Given the description of an element on the screen output the (x, y) to click on. 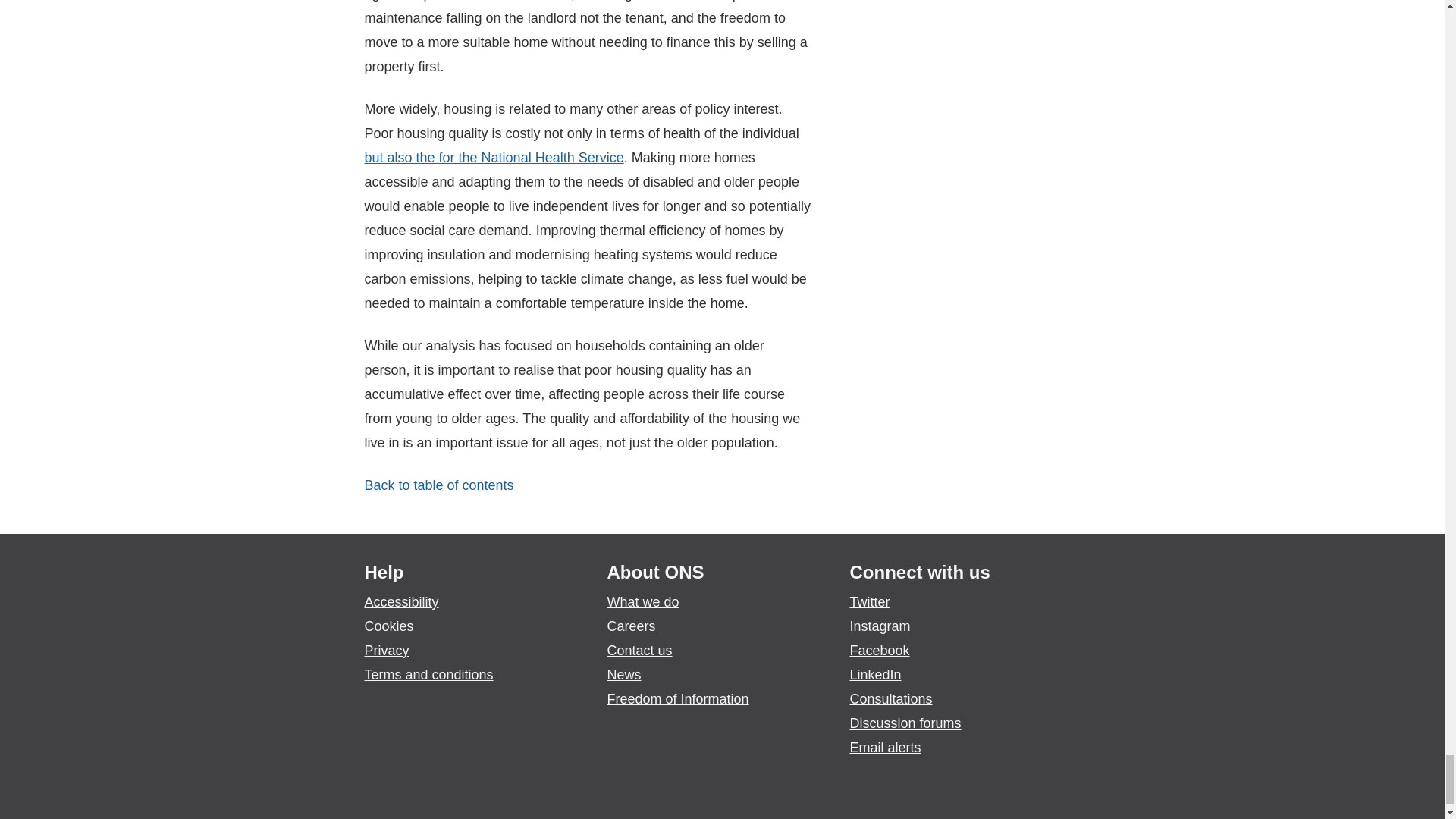
Back to table of contents (438, 485)
